Given the description of an element on the screen output the (x, y) to click on. 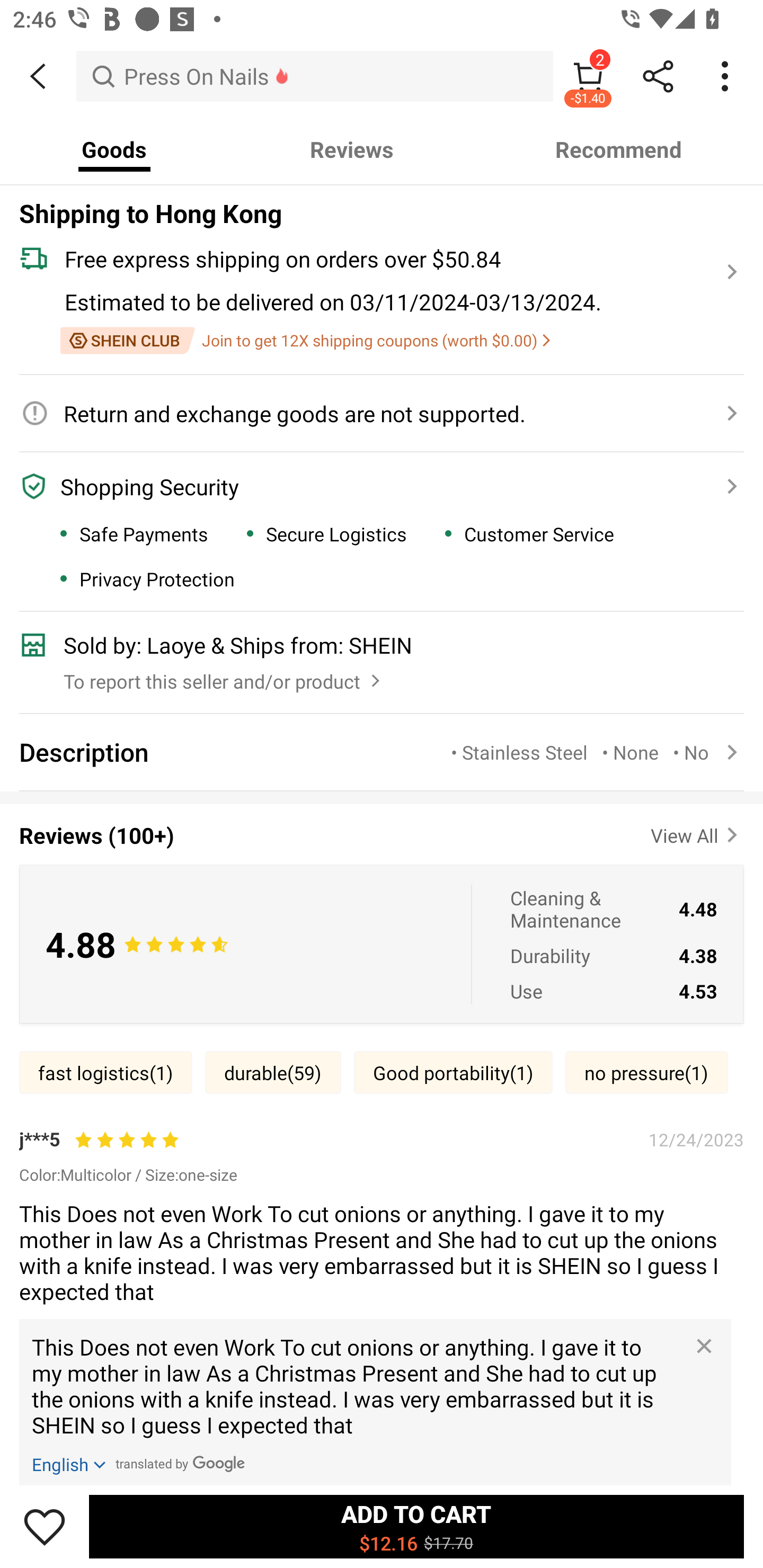
BACK (38, 75)
2 -$1.40 (588, 75)
Press On Nails (314, 75)
Goods (114, 149)
Reviews (351, 149)
Recommend (618, 149)
Join to get 12X shipping coupons (worth $0.00) (305, 340)
Return and exchange goods are not supported. (370, 412)
To report this seller and/or product   (224, 677)
fast logistics(1) (105, 1072)
durable(59) (273, 1072)
Good portability(1) (453, 1072)
no pressure(1) (646, 1072)
English Translate to... (70, 1463)
ADD TO CART $12.16 $17.70 (416, 1526)
Save (44, 1526)
